Given the description of an element on the screen output the (x, y) to click on. 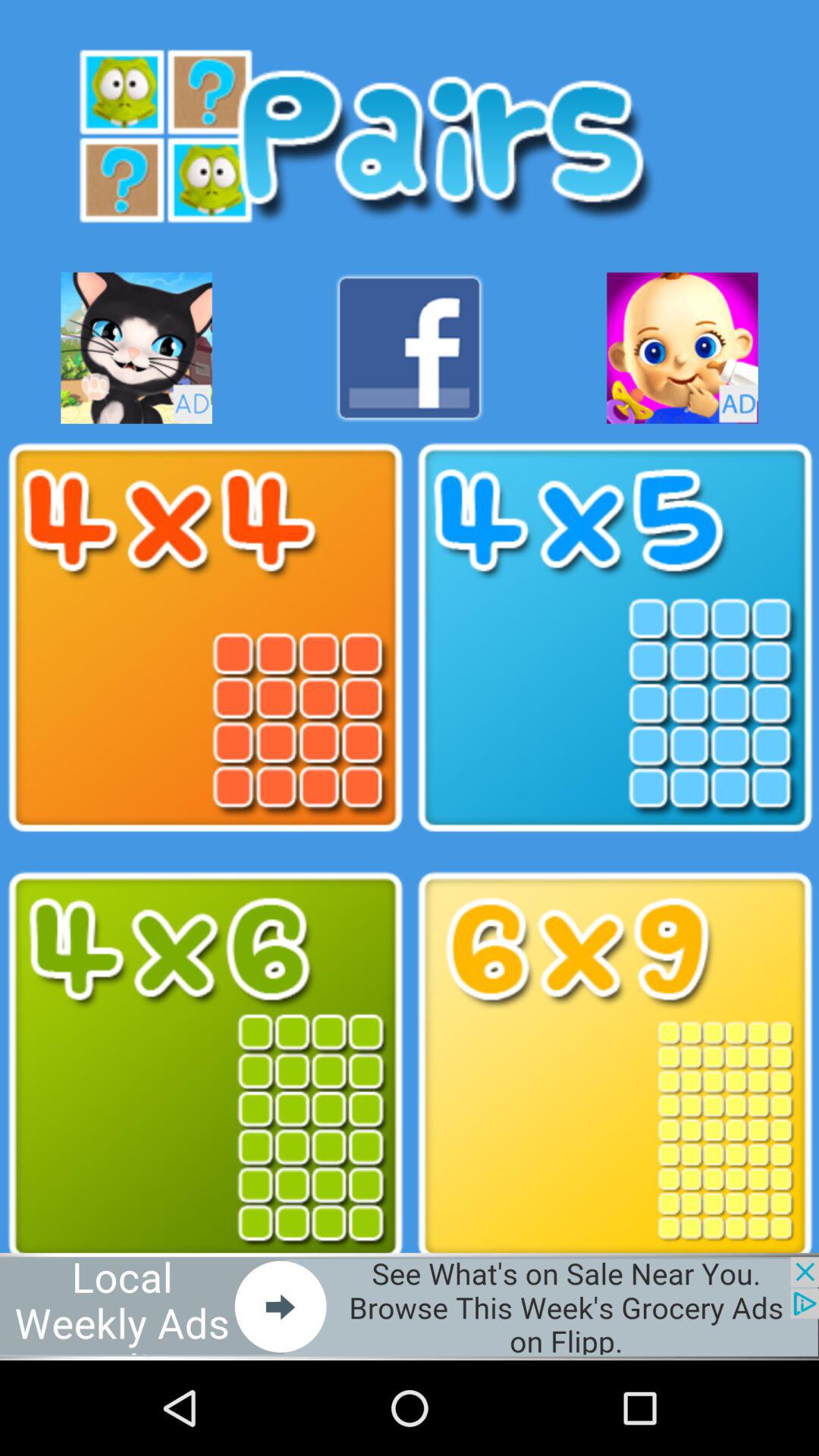
view advert (136, 347)
